Given the description of an element on the screen output the (x, y) to click on. 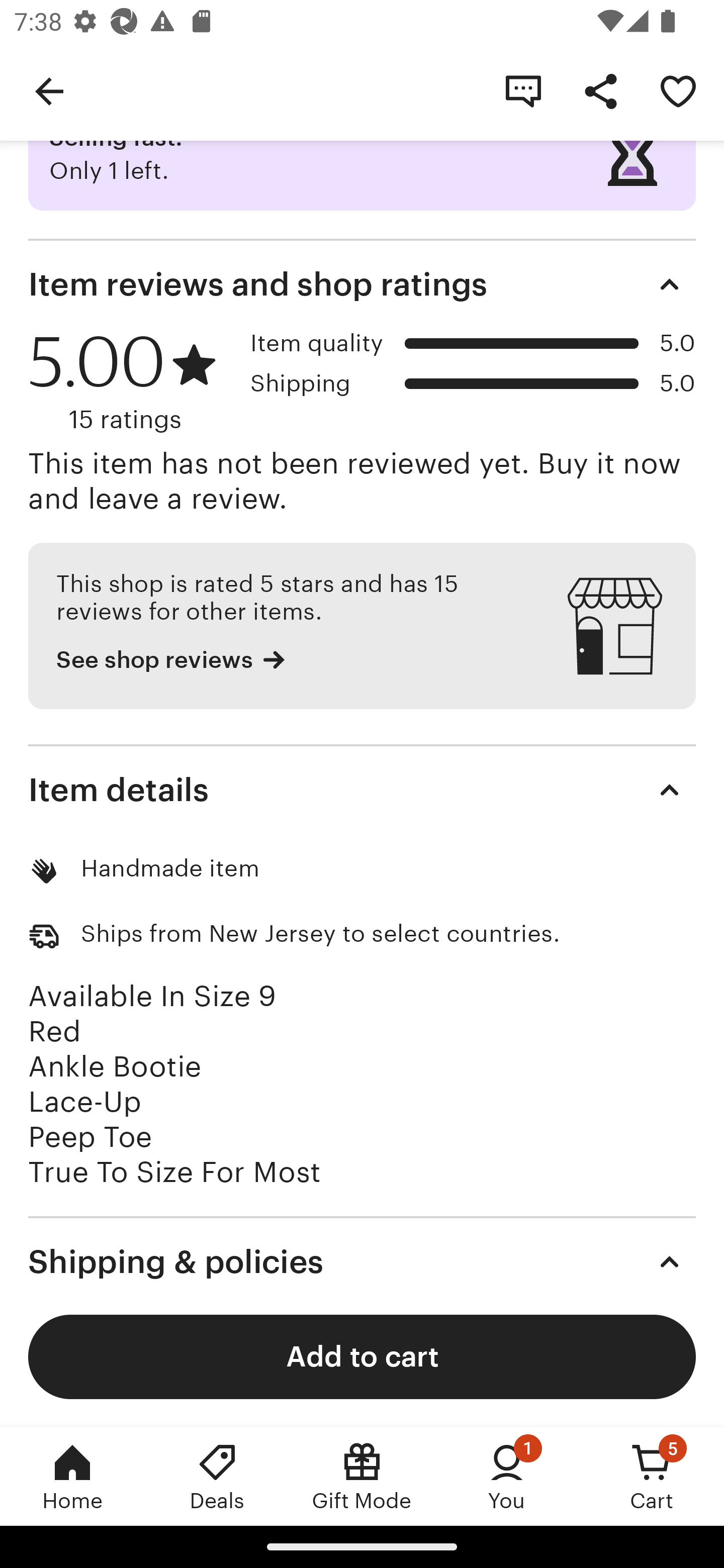
Navigate up (49, 90)
Contact shop (523, 90)
Share (600, 90)
Remove Katrina Peep Toe-Red from your favorites (678, 90)
Item reviews and shop ratings (362, 284)
5.00 15 ratings (132, 382)
Item quality 100.0 5.0 Shipping 100.0 5.0 (472, 370)
Item details (362, 789)
Shipping & policies (362, 1261)
Add to cart (361, 1355)
Deals (216, 1475)
Gift Mode (361, 1475)
You, 1 new notification You (506, 1475)
Cart, 5 new notifications Cart (651, 1475)
